Given the description of an element on the screen output the (x, y) to click on. 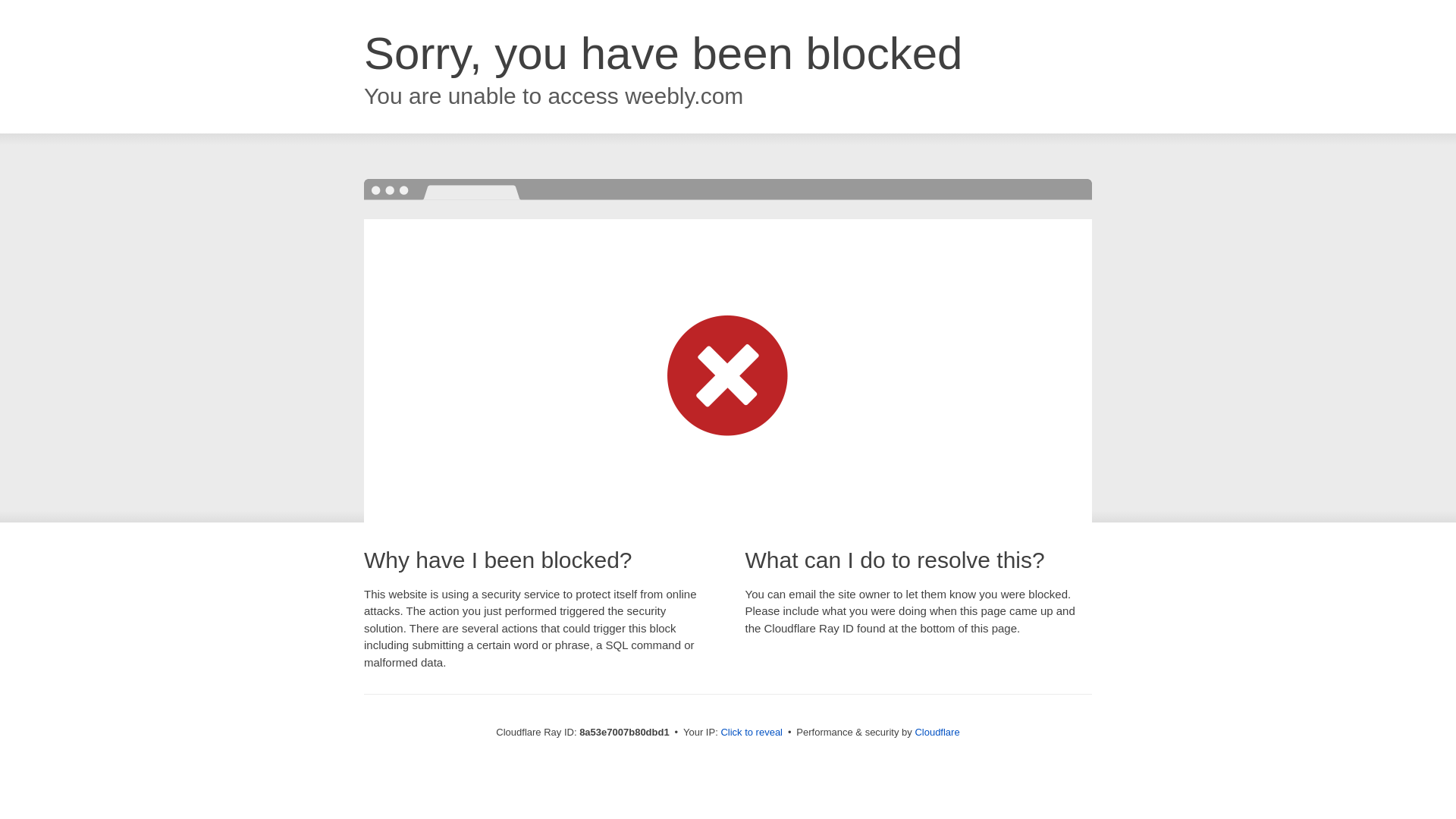
Cloudflare (936, 731)
Click to reveal (751, 732)
